Given the description of an element on the screen output the (x, y) to click on. 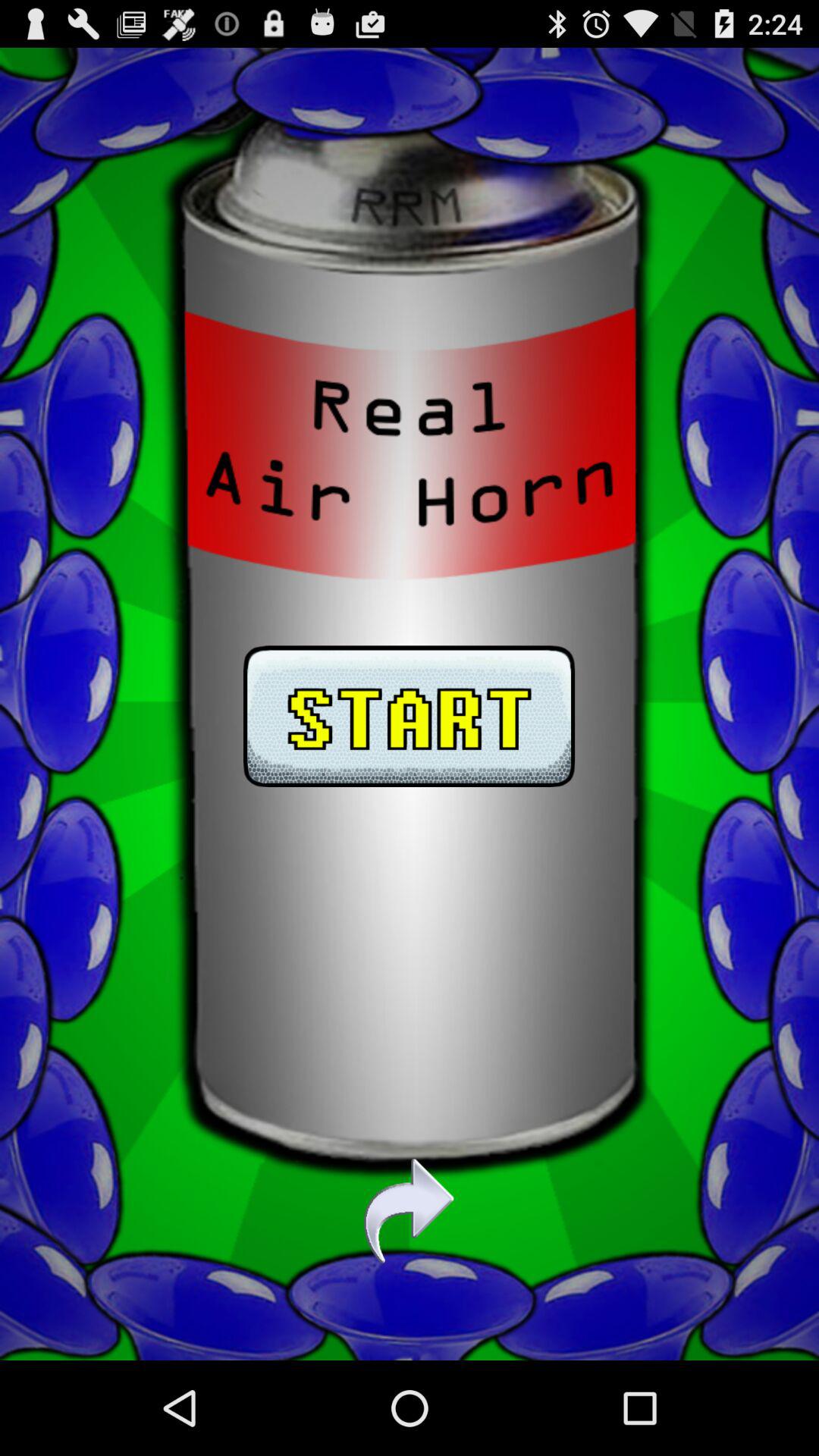
start (409, 704)
